Given the description of an element on the screen output the (x, y) to click on. 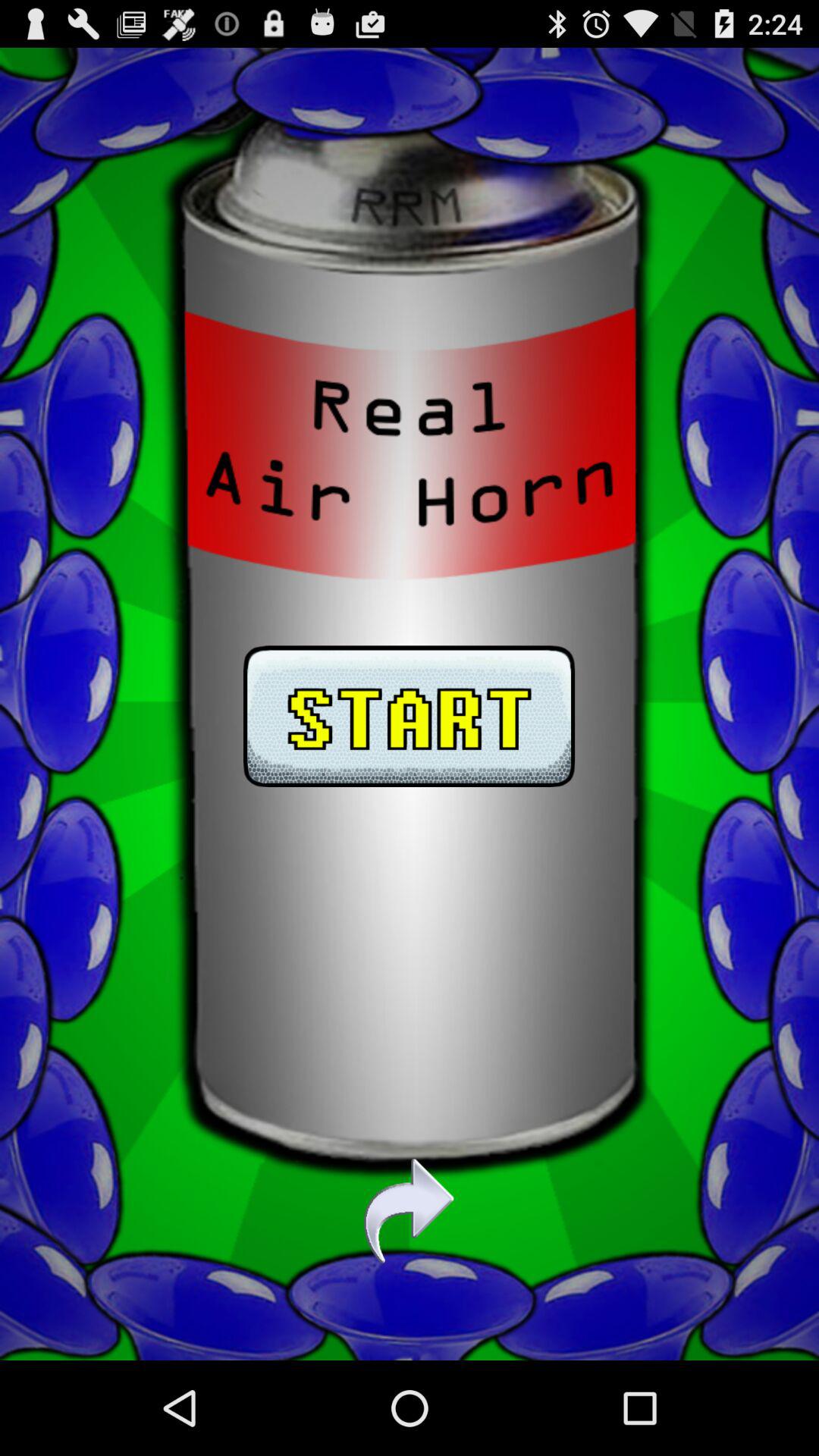
start (409, 704)
